Given the description of an element on the screen output the (x, y) to click on. 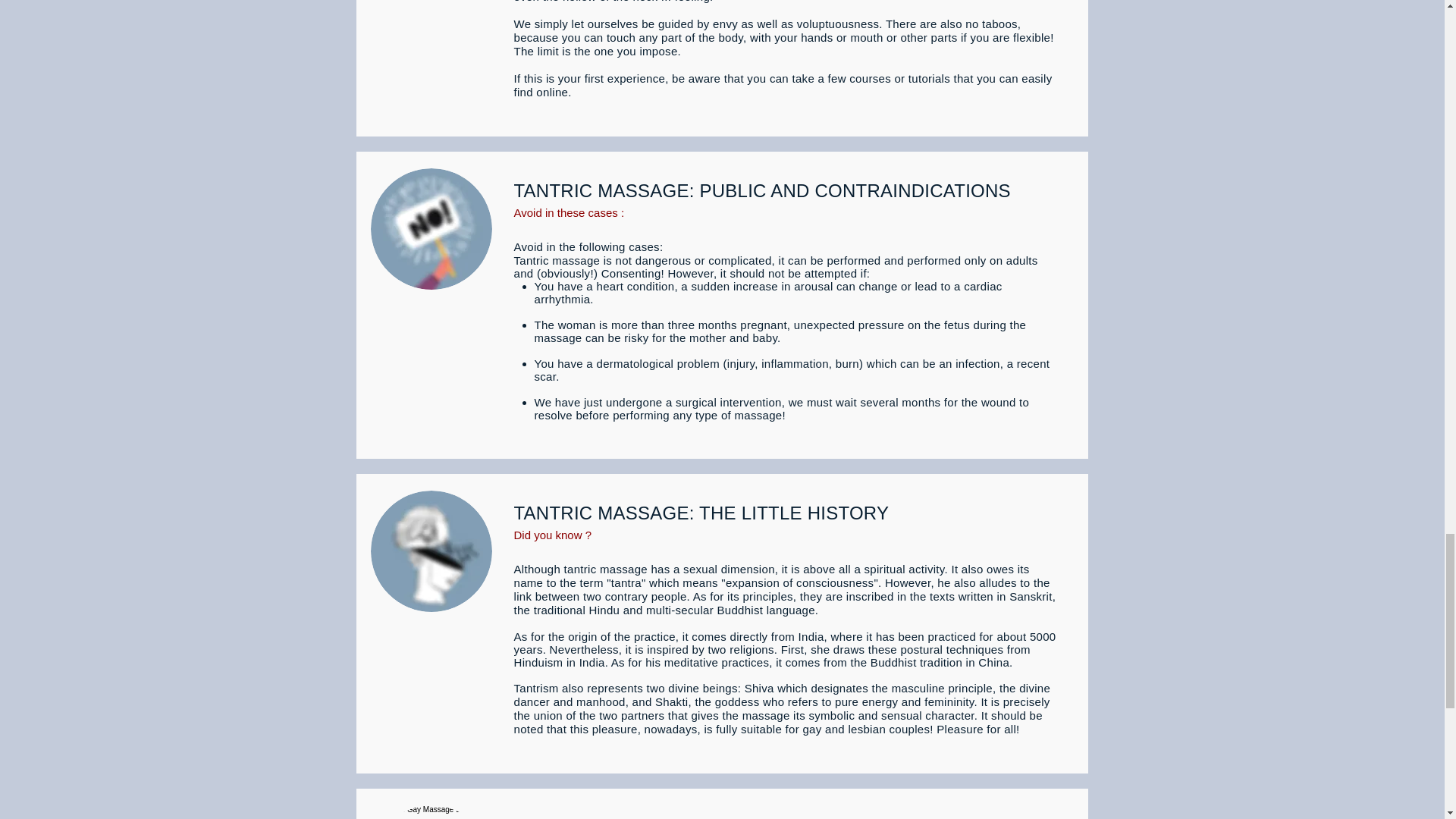
Tantric Gay Massage Brussels (430, 550)
Tantric Gay Massage Brussels (430, 812)
Tantric Gay Massage Brussels (430, 228)
